Given the description of an element on the screen output the (x, y) to click on. 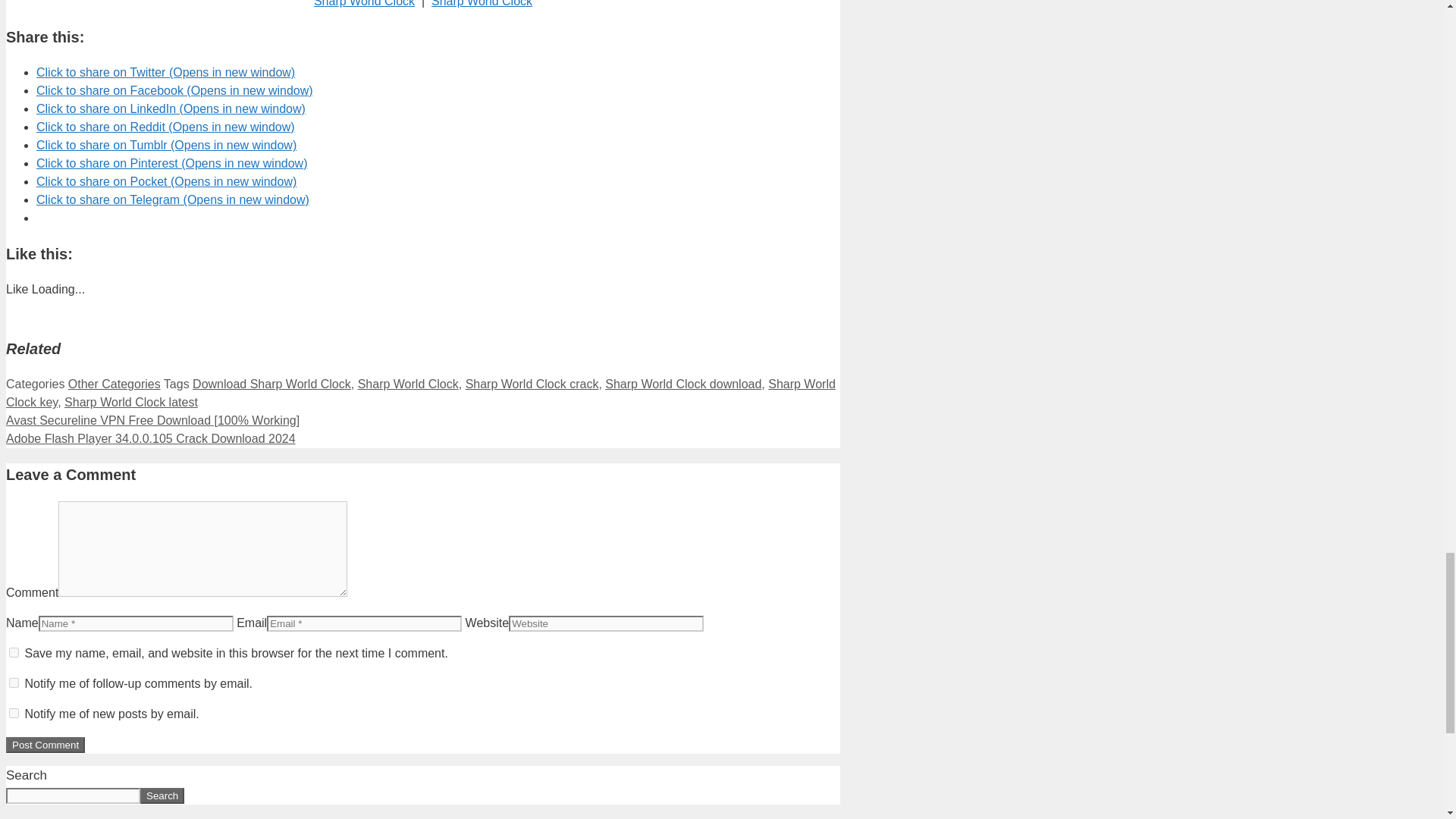
Sharp World Clock (481, 3)
subscribe (13, 682)
Click to share on Pocket (166, 181)
Post Comment (44, 744)
Click to share on Tumblr (166, 144)
Click to share on Twitter (165, 72)
Click to share on Pinterest (171, 163)
Click to share on LinkedIn (170, 108)
yes (13, 652)
subscribe (13, 713)
Sharp World Clock (364, 3)
Click to share on Facebook (174, 90)
Click to share on Telegram (172, 199)
Click to share on Reddit (165, 126)
